Given the description of an element on the screen output the (x, y) to click on. 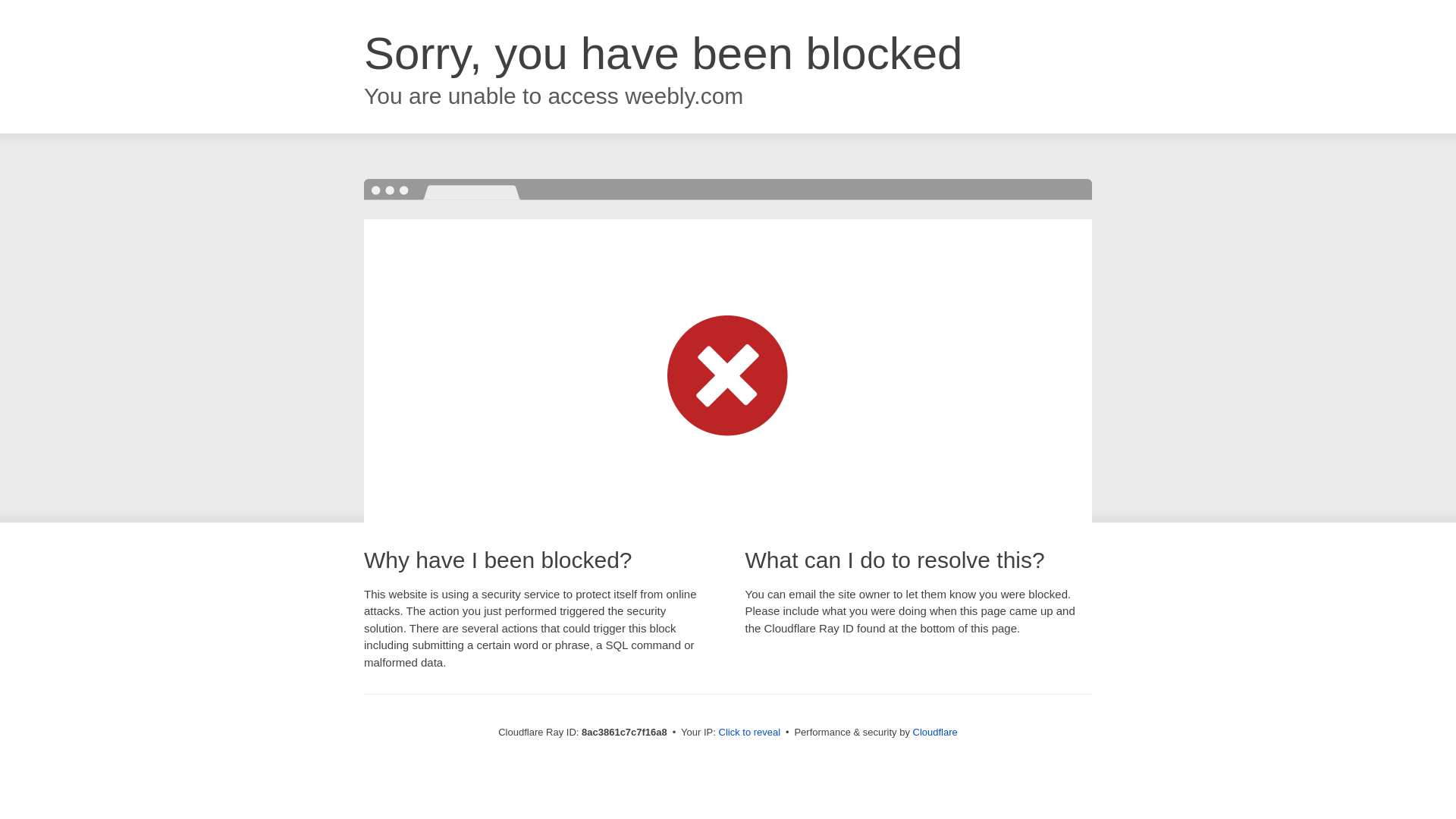
Click to reveal (749, 732)
Cloudflare (935, 731)
